Given the description of an element on the screen output the (x, y) to click on. 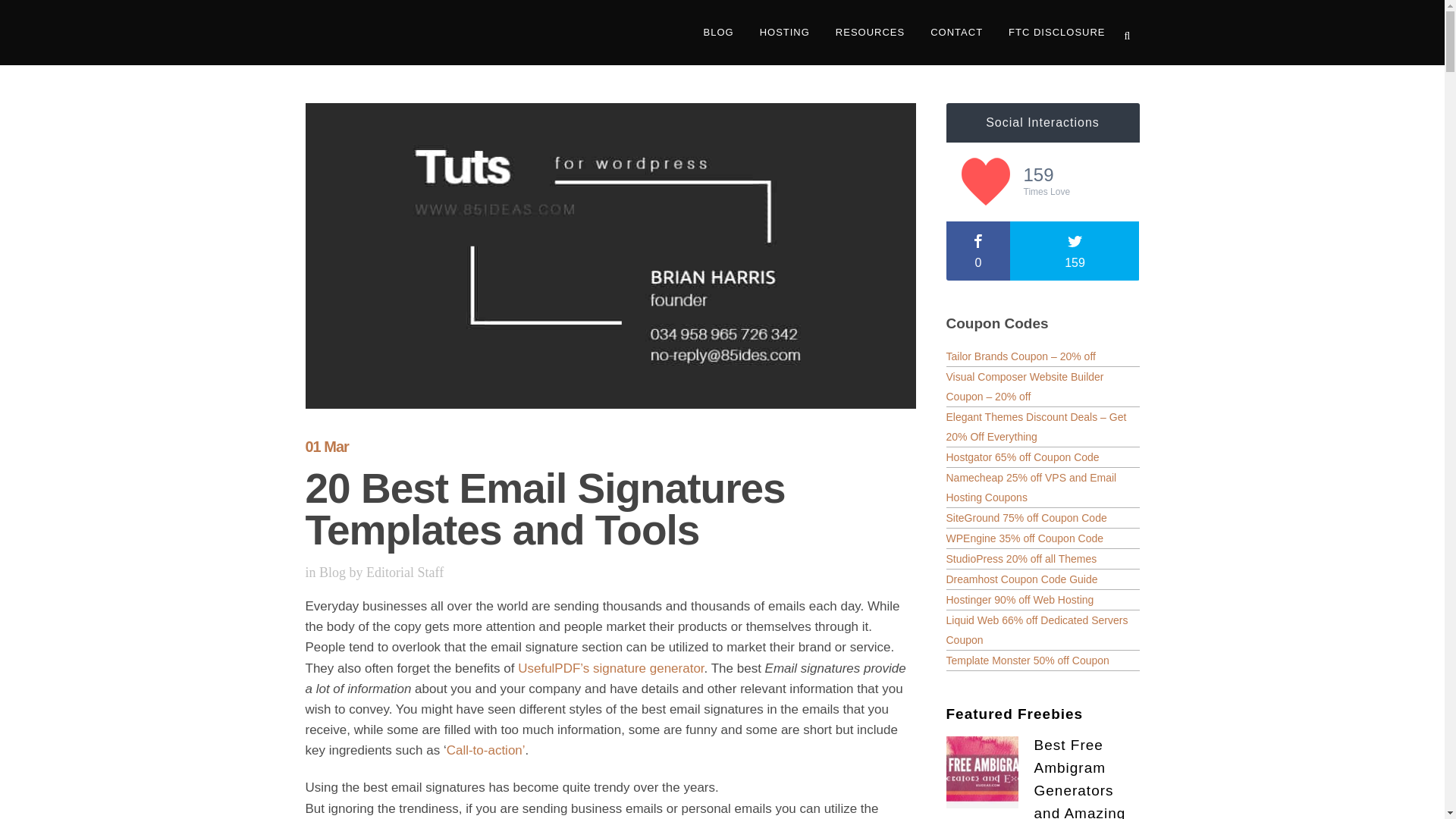
HOSTING (784, 32)
FTC DISCLOSURE (1056, 32)
CONTACT (956, 32)
RESOURCES (869, 32)
